Given the description of an element on the screen output the (x, y) to click on. 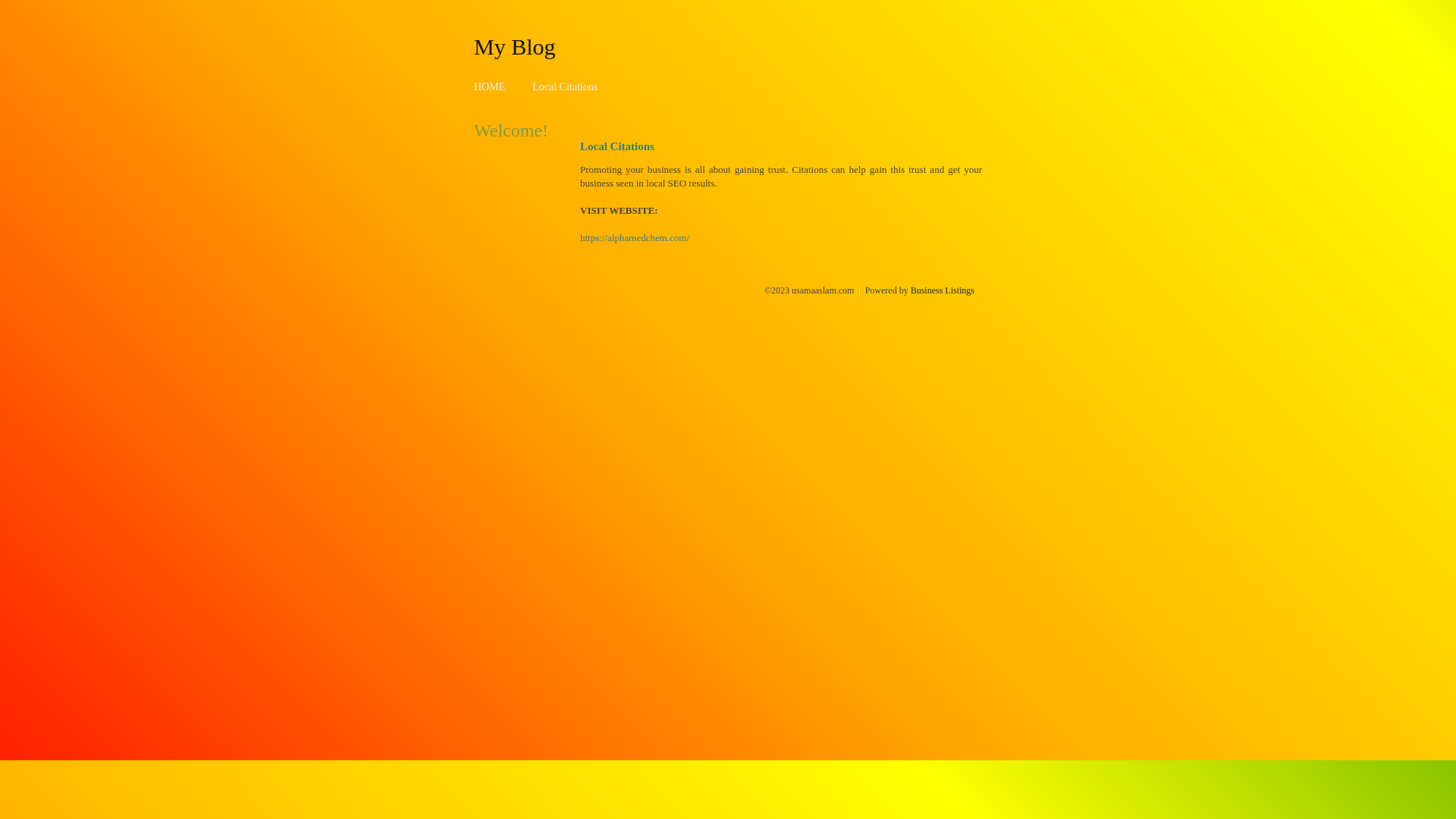
https://alphamedchem.com/ Element type: text (634, 237)
Local Citations Element type: text (564, 86)
My Blog Element type: text (514, 46)
HOME Element type: text (489, 86)
Business Listings Element type: text (942, 290)
